Given the description of an element on the screen output the (x, y) to click on. 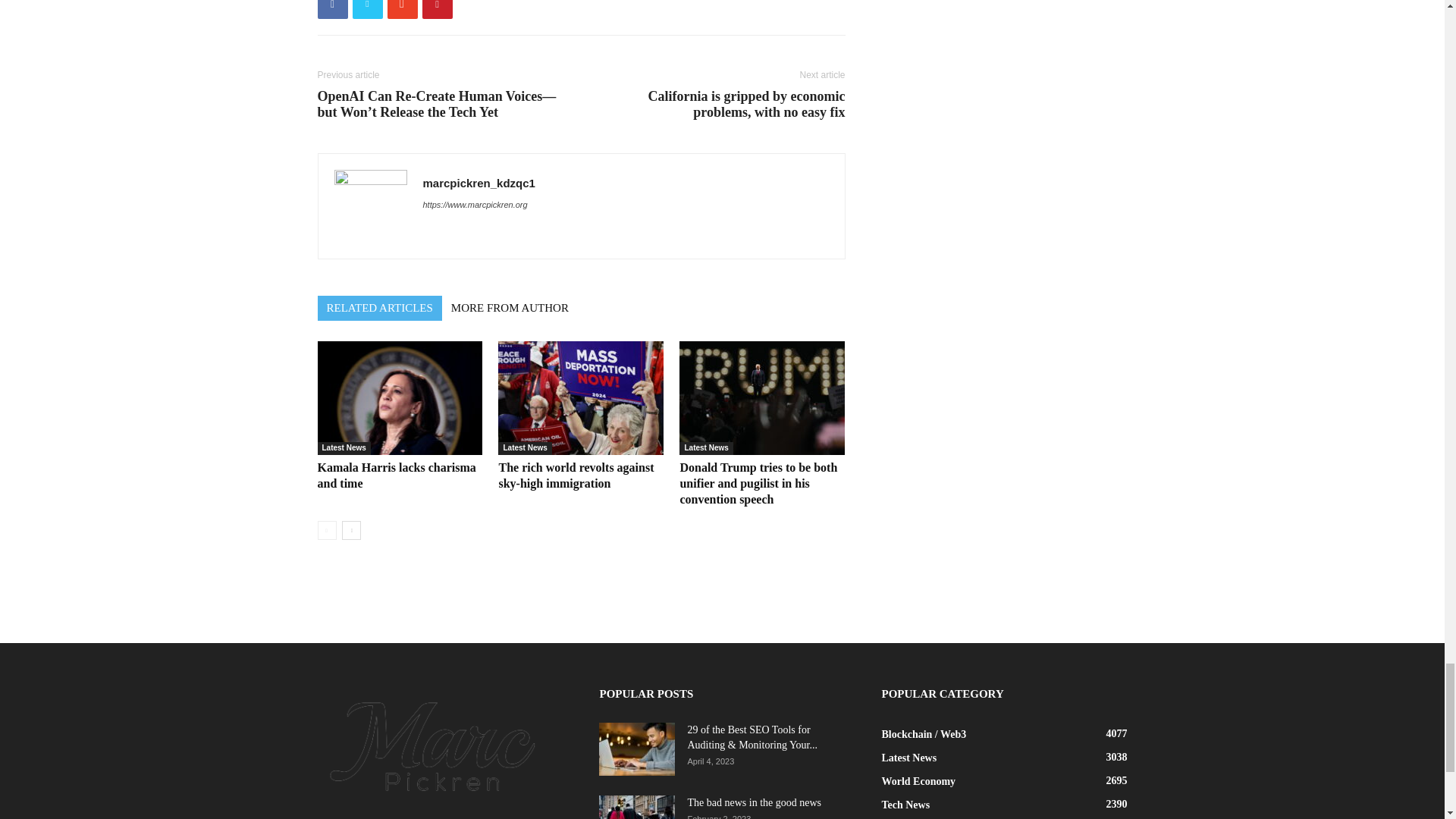
Kamala Harris lacks charisma and time (396, 475)
Kamala Harris lacks charisma and time (399, 398)
The rich world revolts against sky-high immigration (580, 398)
